Given the description of an element on the screen output the (x, y) to click on. 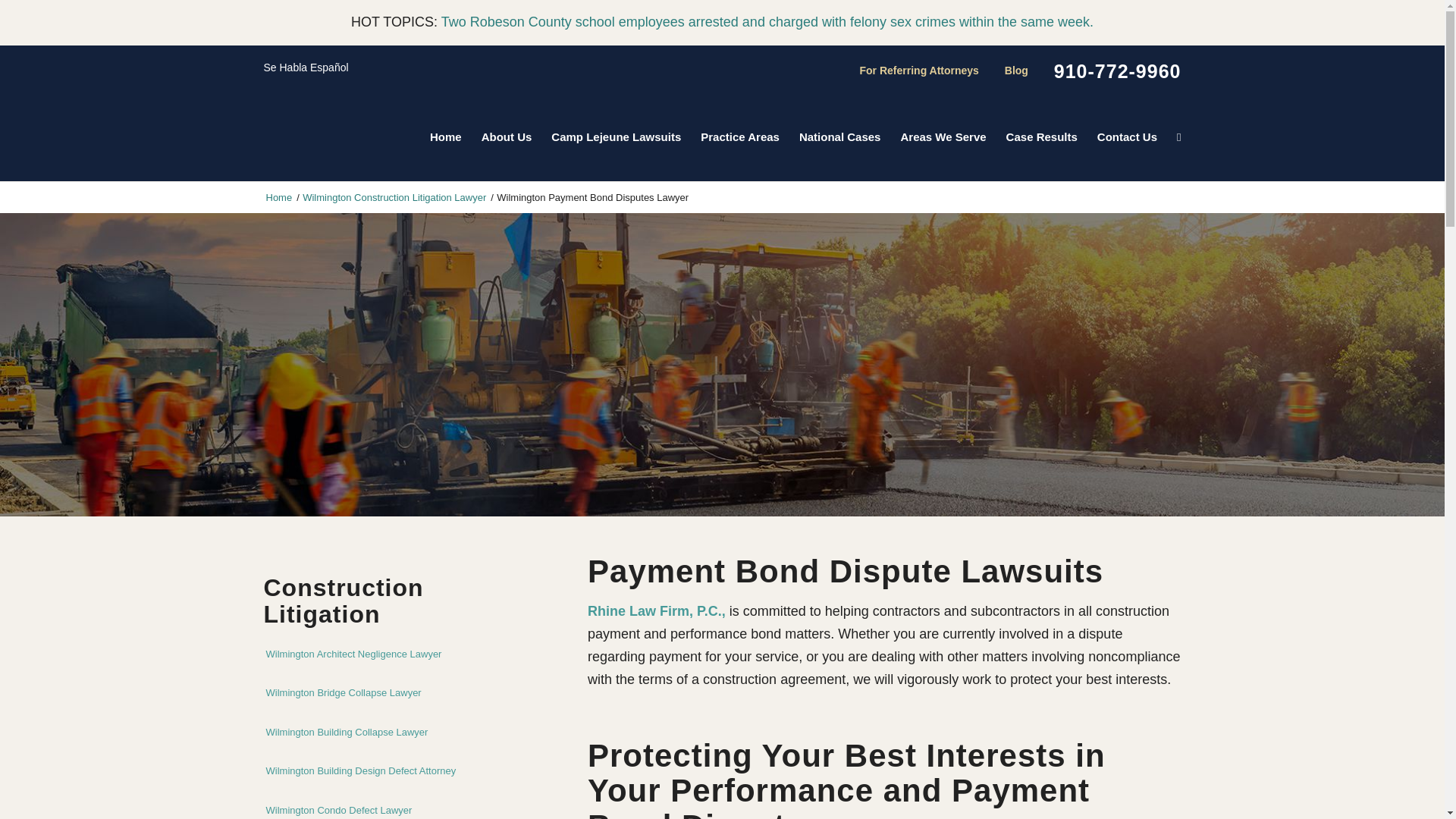
Camp Lejeune Lawsuits (615, 136)
Rhine Law Firm, P.C. (279, 197)
Wilmington Construction Litigation Lawyer (393, 197)
Practice Areas (739, 136)
For Referring Attorneys (919, 70)
910-772-9960 (1117, 71)
Blog (1015, 70)
